Given the description of an element on the screen output the (x, y) to click on. 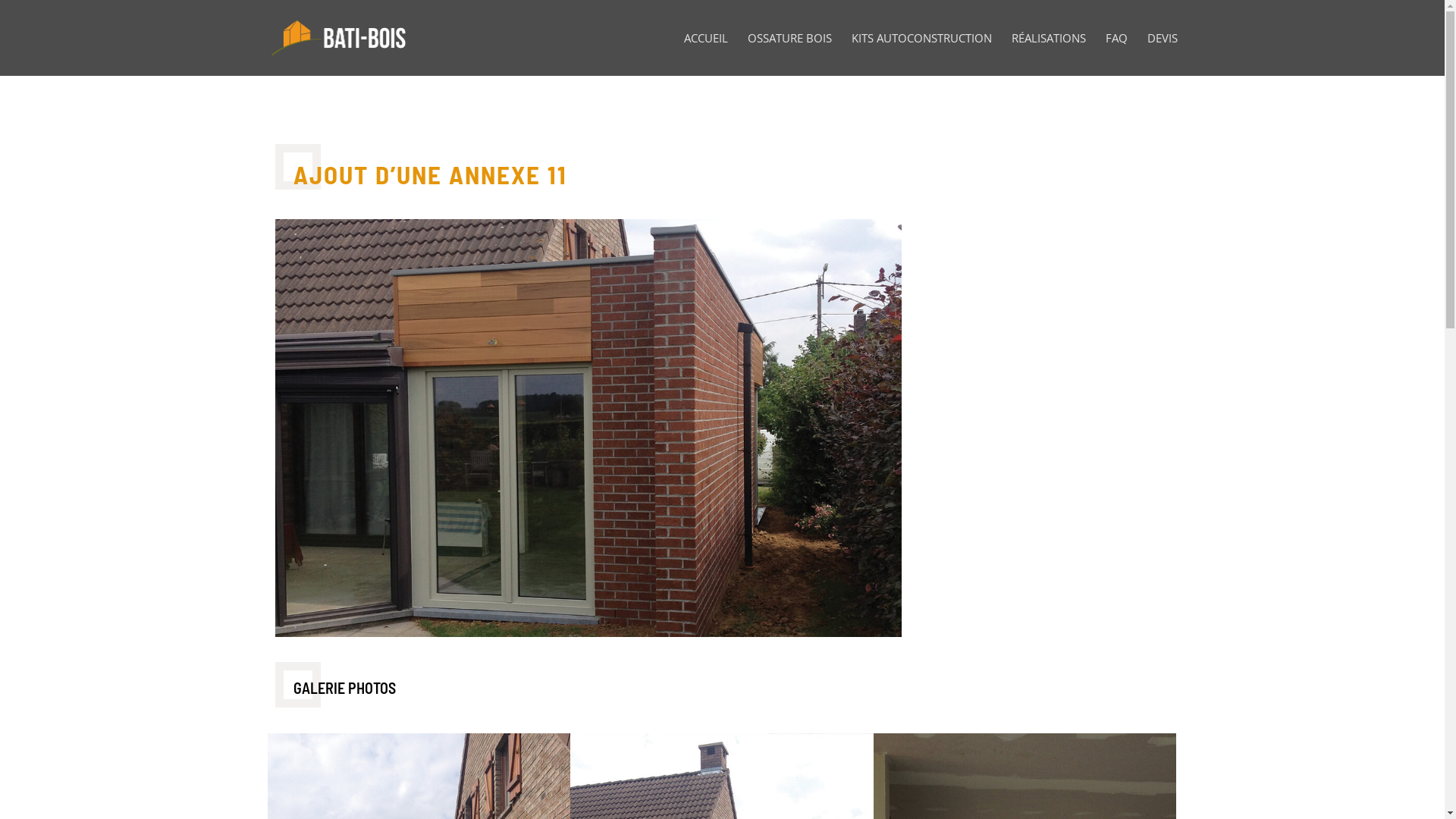
OSSATURE BOIS Element type: text (789, 53)
DEVIS Element type: text (1161, 53)
FAQ Element type: text (1116, 53)
ACCUEIL Element type: text (706, 53)
Annexe_11-00 Element type: hover (587, 428)
KITS AUTOCONSTRUCTION Element type: text (920, 53)
